Given the description of an element on the screen output the (x, y) to click on. 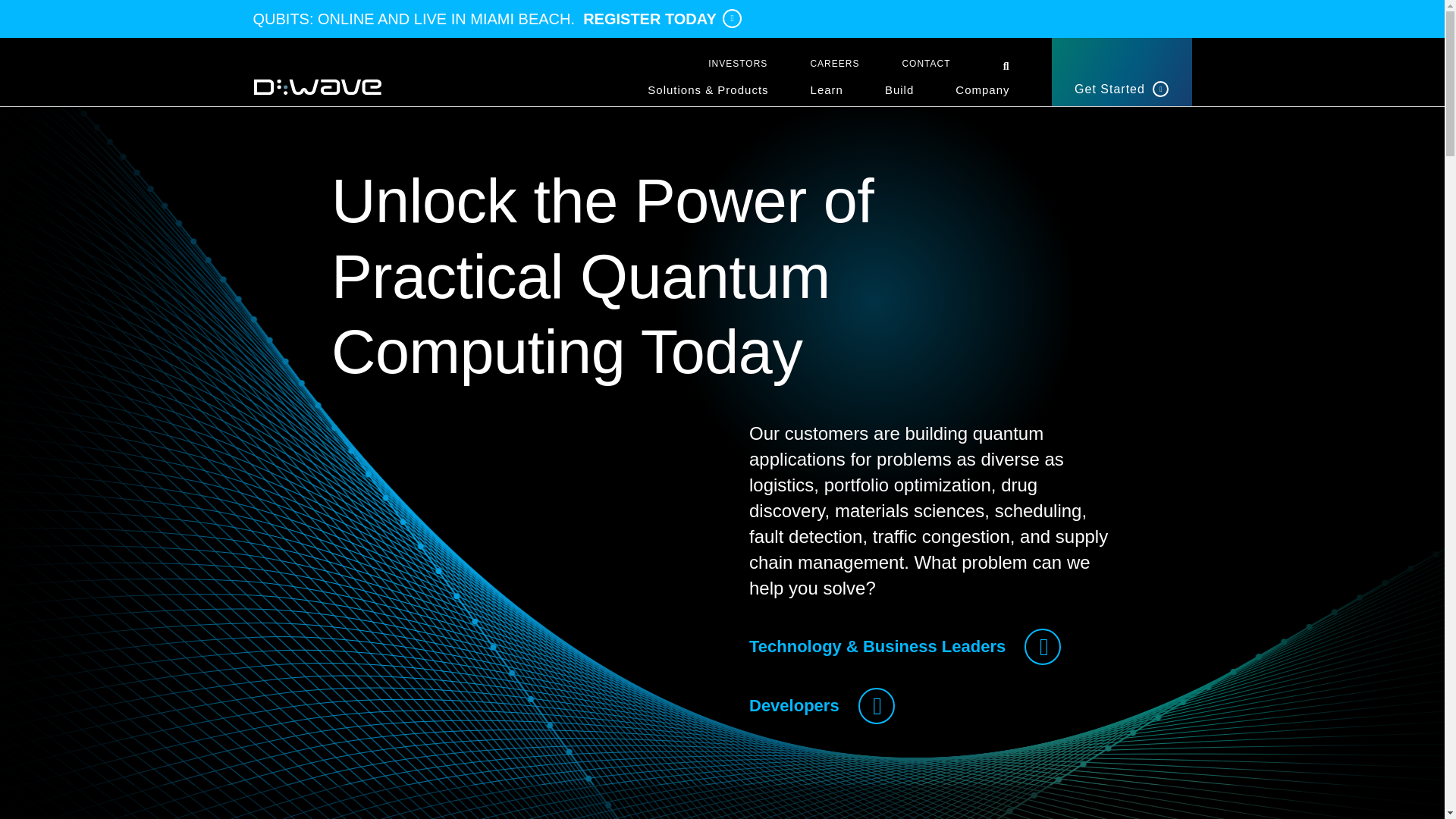
REGISTER TODAY (662, 18)
Go (10, 6)
Learn (826, 94)
INVESTORS (737, 63)
CAREERS (834, 63)
CONTACT (925, 63)
Build (899, 94)
Company (982, 94)
